Given the description of an element on the screen output the (x, y) to click on. 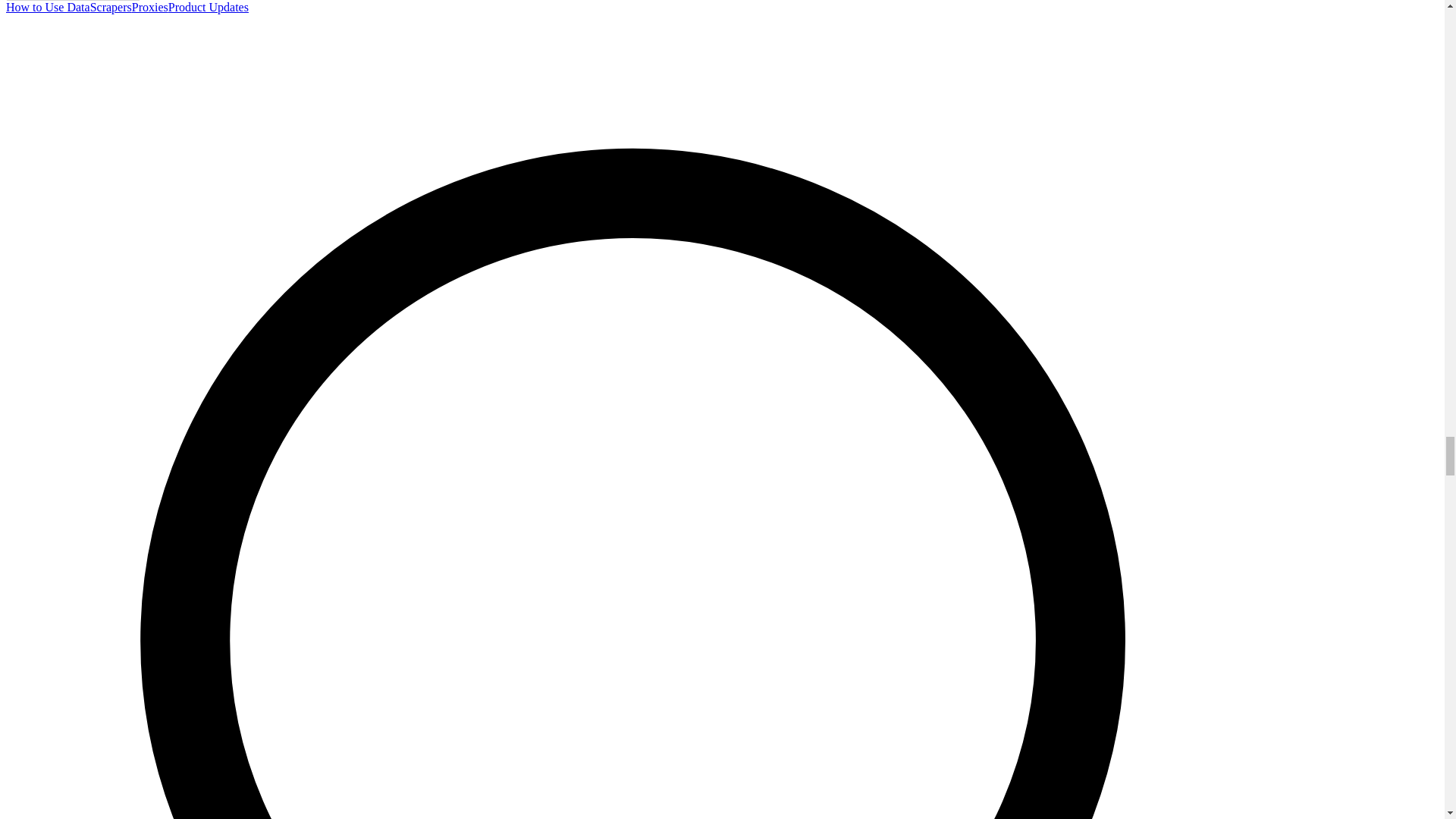
Proxies (150, 6)
Product Updates (208, 6)
Scrapers (111, 6)
How to Use Data (47, 6)
